Given the description of an element on the screen output the (x, y) to click on. 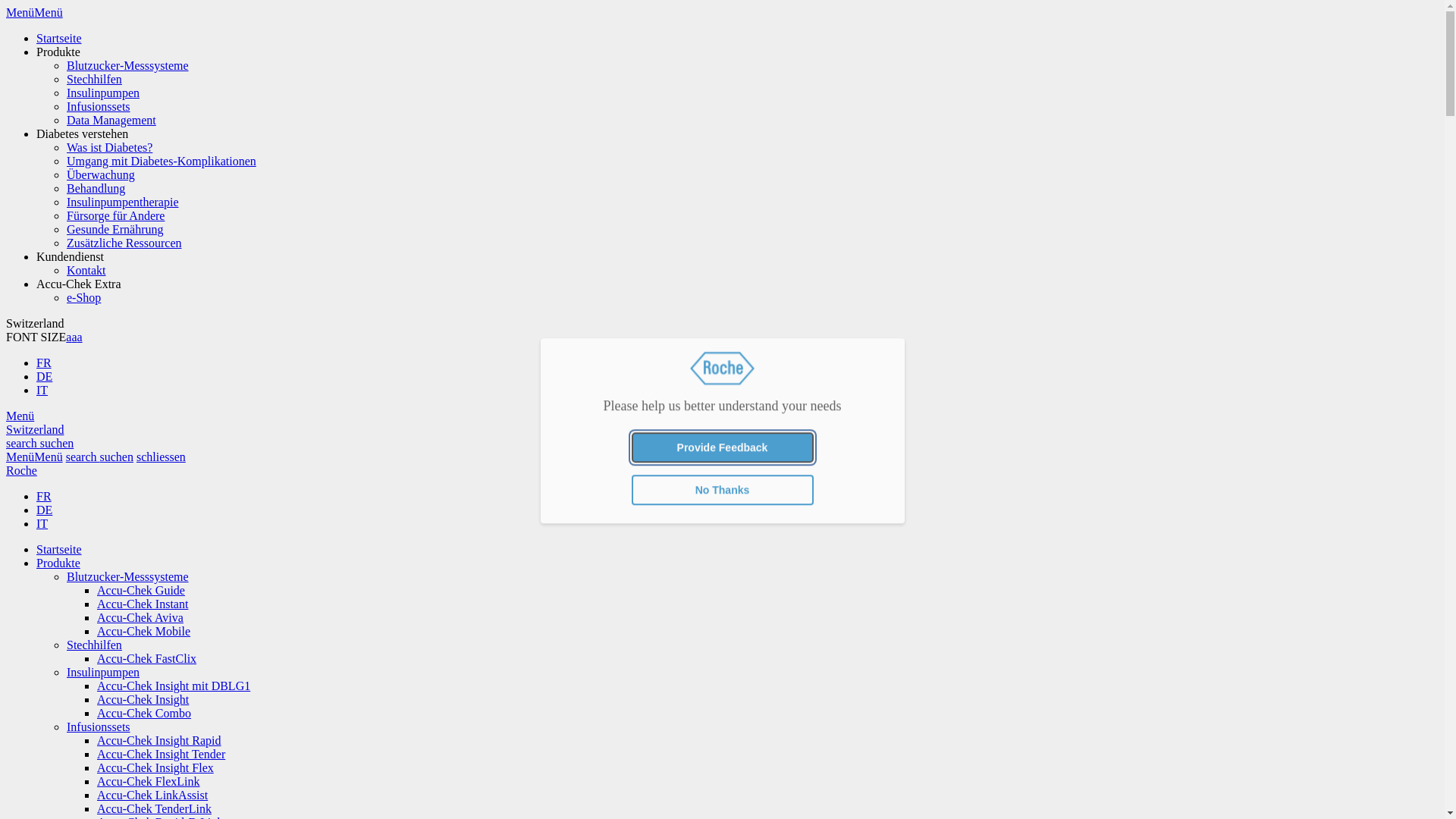
Accu-Chek Guide Element type: text (141, 589)
schliessen Element type: text (160, 456)
Produkte Element type: text (58, 562)
Accu-Chek Combo Element type: text (144, 712)
Stechhilfen Element type: text (94, 644)
IT Element type: text (41, 389)
Accu-Chek Insight mit DBLG1 Element type: text (173, 685)
DE Element type: text (44, 376)
Switzerland Element type: text (34, 429)
FR Element type: text (43, 362)
DE Element type: text (44, 509)
Accu-Chek Insight Flex Element type: text (155, 767)
search suchen Element type: text (99, 456)
Accu-Chek FlexLink Element type: text (148, 781)
a Element type: text (73, 336)
Insulinpumpen Element type: text (102, 92)
Startseite Element type: text (58, 548)
Accu-Chek Insight Element type: text (142, 699)
Was ist Diabetes? Element type: text (109, 147)
Kontakt Element type: text (86, 269)
Accu-Chek Insight Tender Element type: text (161, 753)
IT Element type: text (41, 523)
FR Element type: text (43, 495)
Accu-Chek Instant Element type: text (142, 603)
Roche Element type: text (21, 470)
Startseite Element type: text (58, 37)
a Element type: text (78, 336)
Blutzucker-Messsysteme Element type: text (127, 65)
search suchen Element type: text (39, 442)
Insulinpumpen Element type: text (102, 671)
Behandlung Element type: text (95, 188)
Infusionssets Element type: text (98, 726)
Blutzucker-Messsysteme Element type: text (127, 576)
Accu-Chek Mobile Element type: text (143, 630)
Insulinpumpentherapie Element type: text (122, 201)
Accu-Chek LinkAssist Element type: text (152, 794)
Infusionssets Element type: text (98, 106)
Accu-Chek Aviva Element type: text (140, 617)
e-Shop Element type: text (83, 297)
a Element type: text (68, 336)
Accu-Chek FastClix Element type: text (146, 658)
Stechhilfen Element type: text (94, 78)
Accu-Chek Insight Rapid Element type: text (159, 740)
Accu-Chek TenderLink Element type: text (154, 808)
Umgang mit Diabetes-Komplikationen Element type: text (161, 160)
Data Management Element type: text (111, 119)
